Given the description of an element on the screen output the (x, y) to click on. 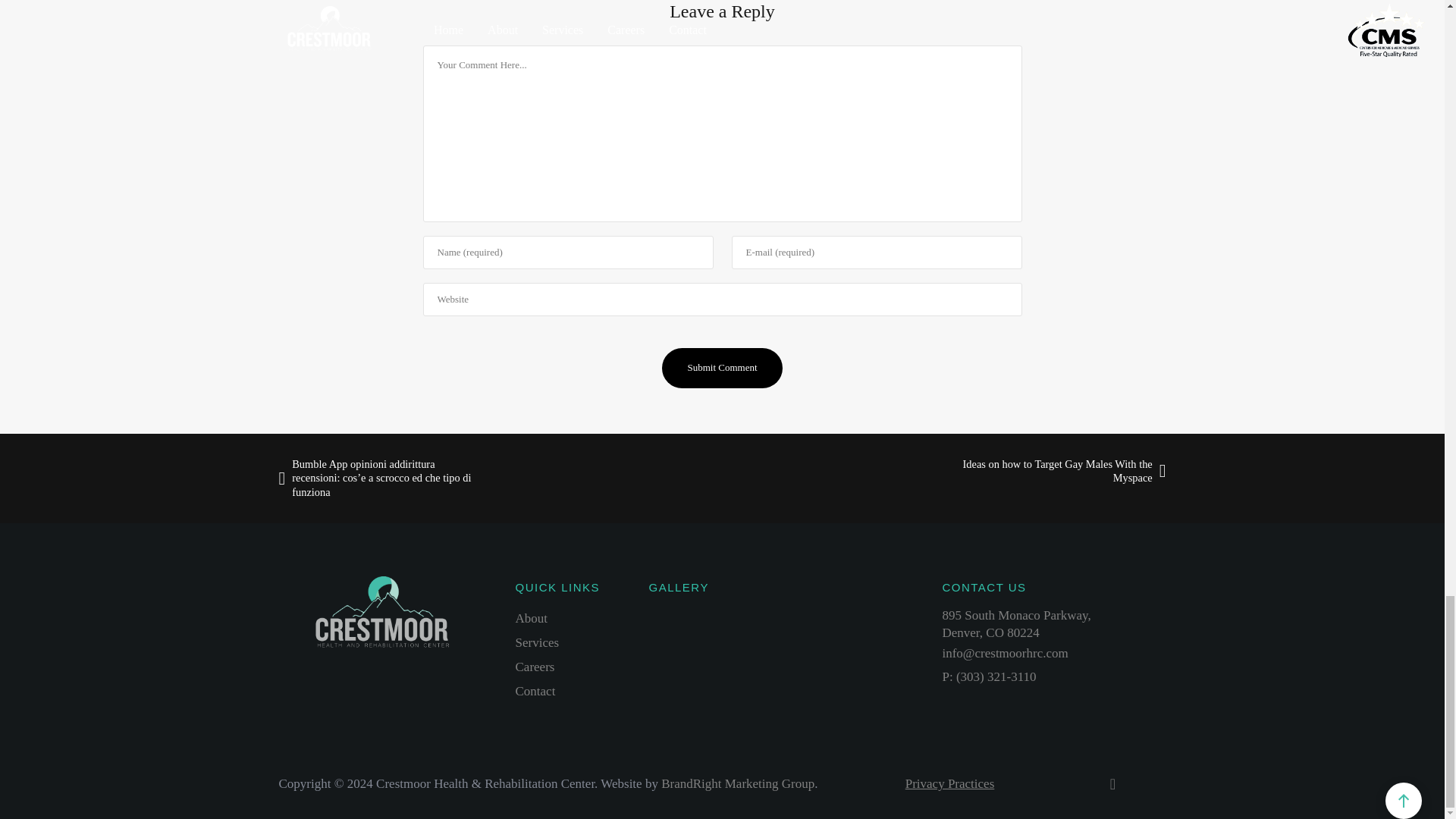
Contact (535, 690)
Facebook (1113, 785)
BrandRight Marketing Group (1016, 623)
Services (737, 783)
Submit Comment (537, 642)
Privacy Practices (722, 368)
Submit Comment (949, 783)
Ideas on how to Target Gay Males With the Myspace (722, 368)
About (1054, 471)
Careers (531, 617)
